Given the description of an element on the screen output the (x, y) to click on. 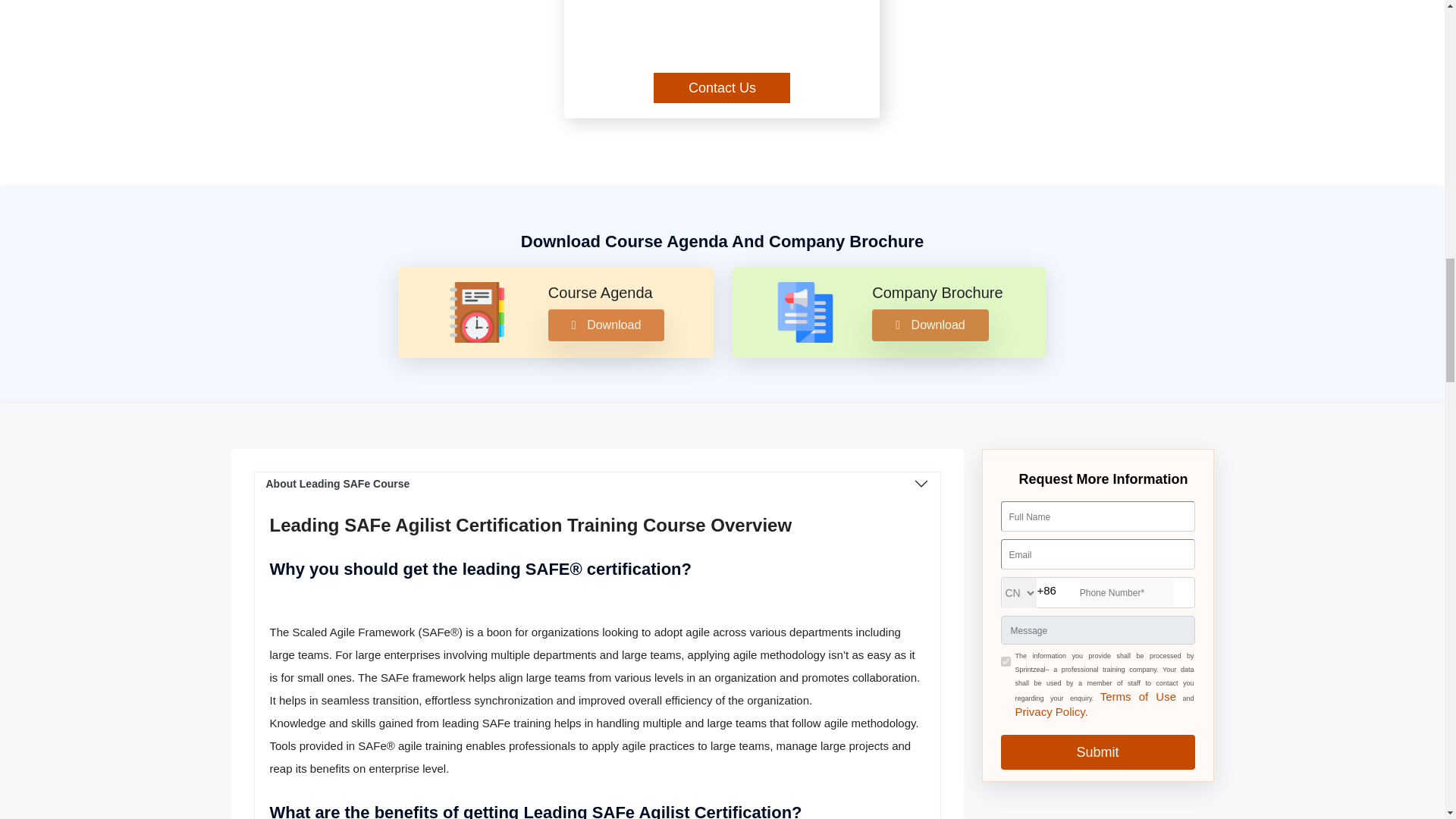
Click Here (1050, 711)
Enroll Now (721, 87)
Click Here (1138, 696)
on (1005, 661)
